Given the description of an element on the screen output the (x, y) to click on. 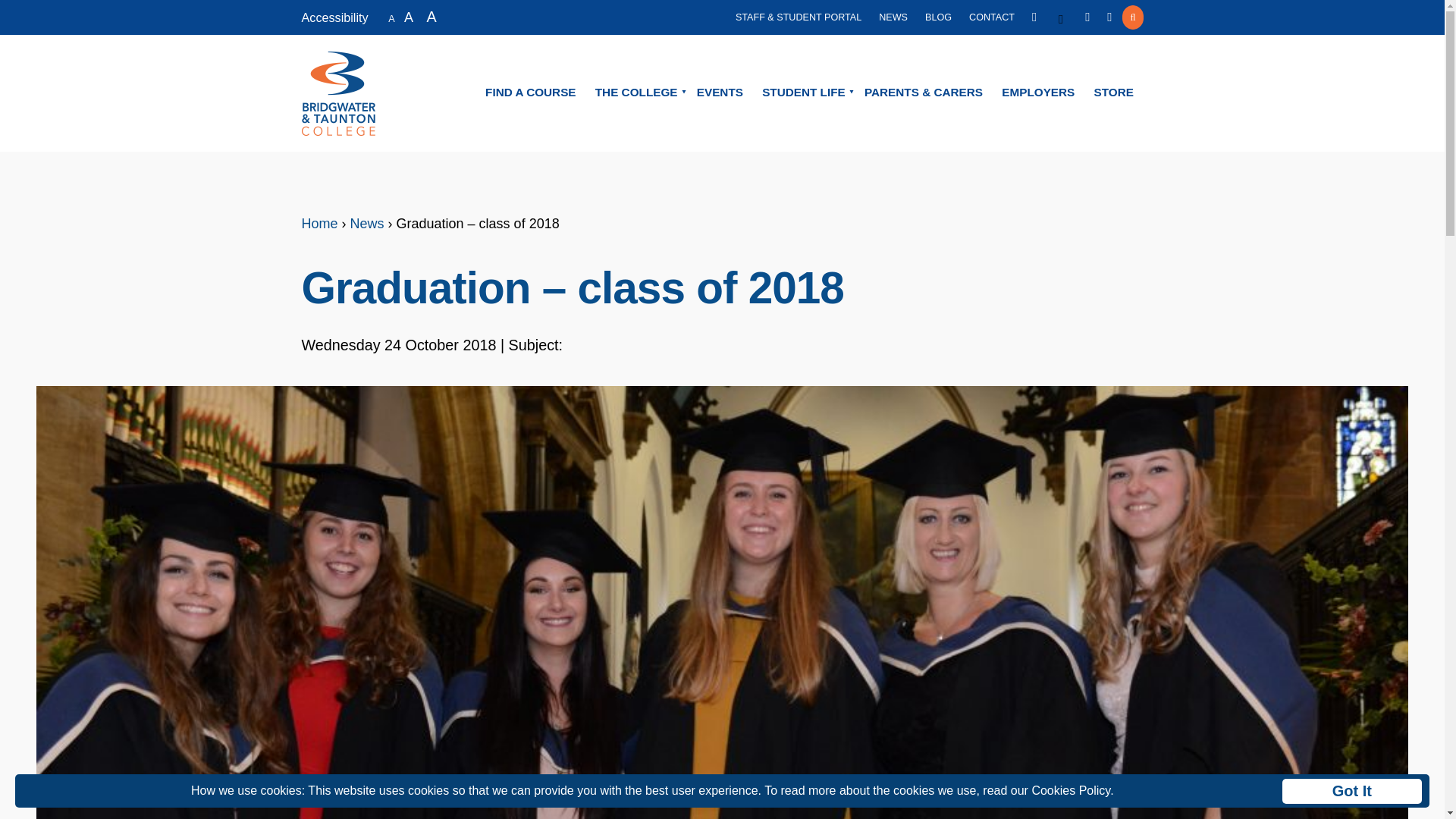
News (367, 223)
NEWS (893, 17)
A (432, 15)
BLOG (938, 17)
CONTACT (992, 17)
Home (319, 223)
